Given the description of an element on the screen output the (x, y) to click on. 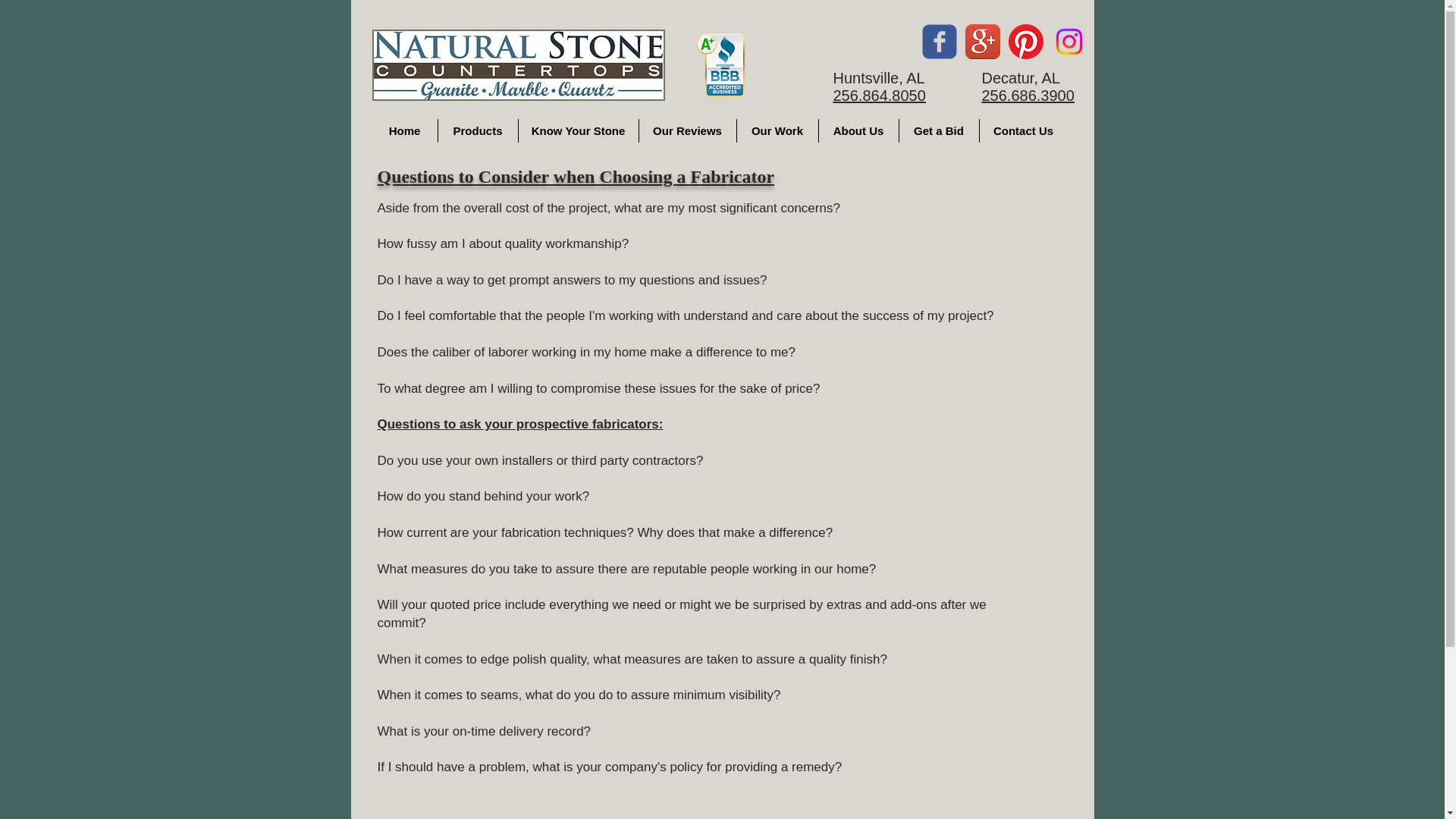
Contact Us (1023, 130)
Home (403, 130)
Our Work (777, 130)
Products (478, 130)
256.864.8050 (878, 95)
Get a Bid (938, 130)
256.686.3900 (1027, 95)
Know Your Stone (578, 130)
Our Reviews (687, 130)
About Us (858, 130)
